Given the description of an element on the screen output the (x, y) to click on. 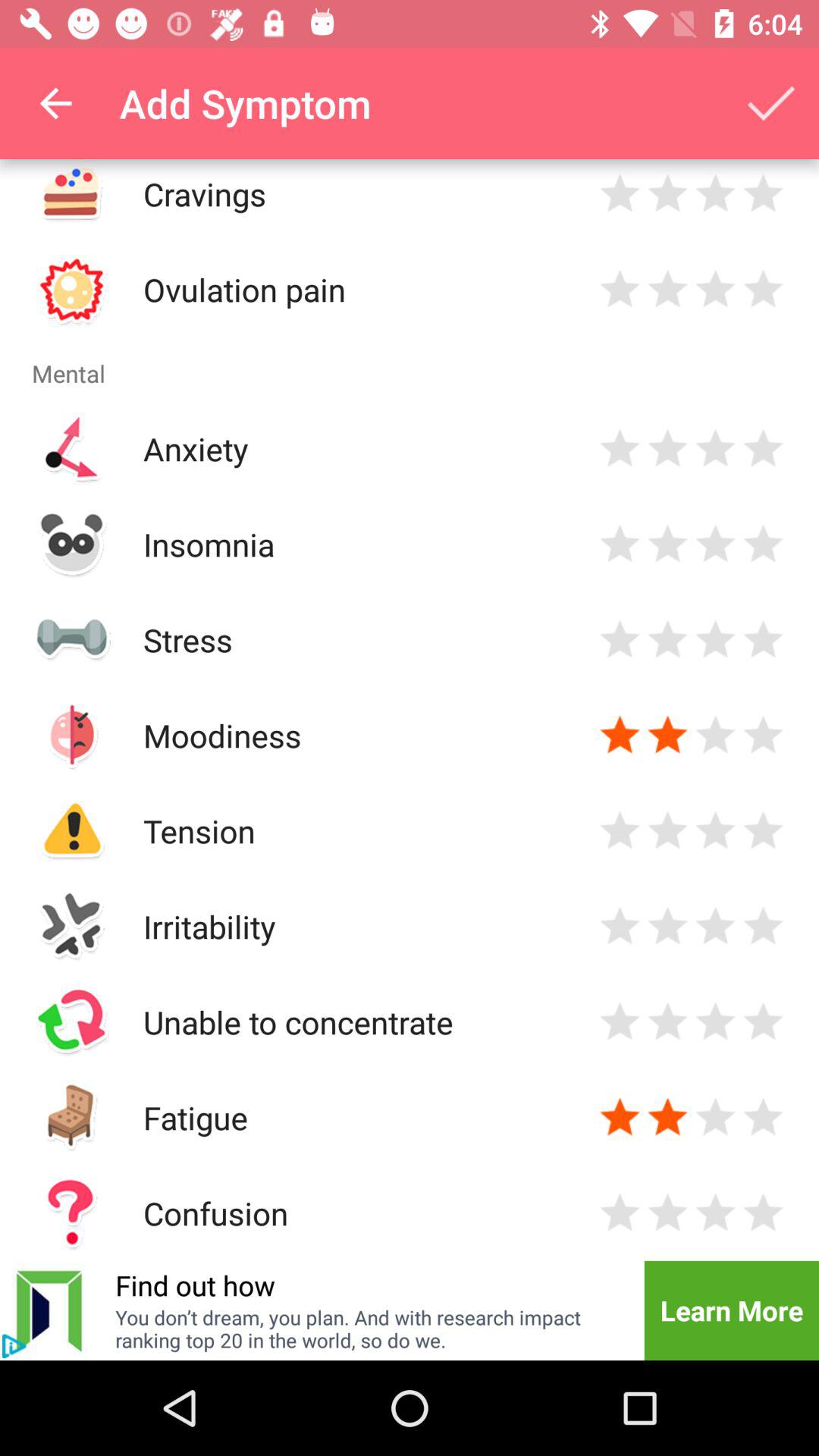
rate (667, 193)
